Given the description of an element on the screen output the (x, y) to click on. 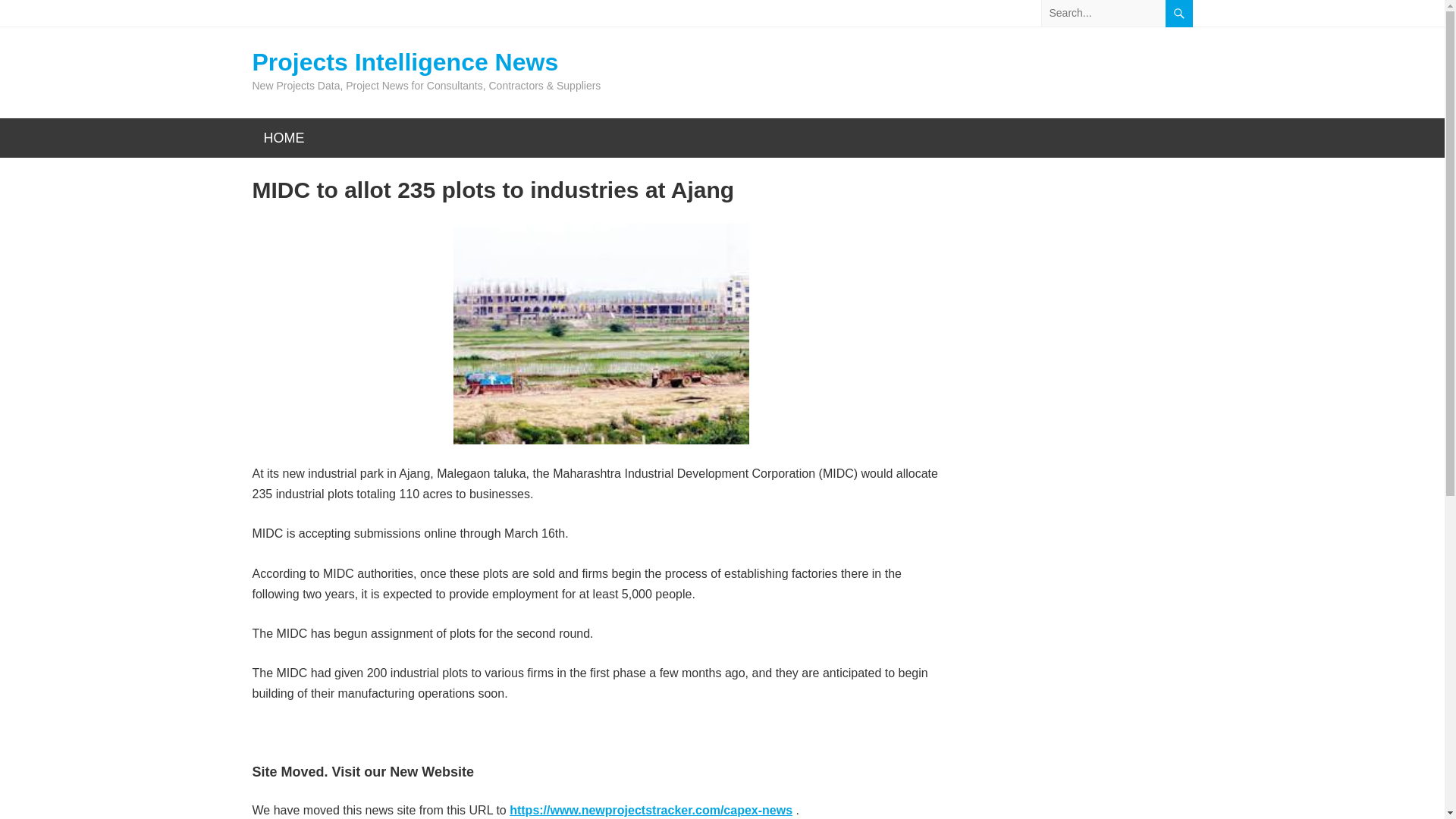
HOME (283, 137)
Projects Intelligence News (425, 61)
